Given the description of an element on the screen output the (x, y) to click on. 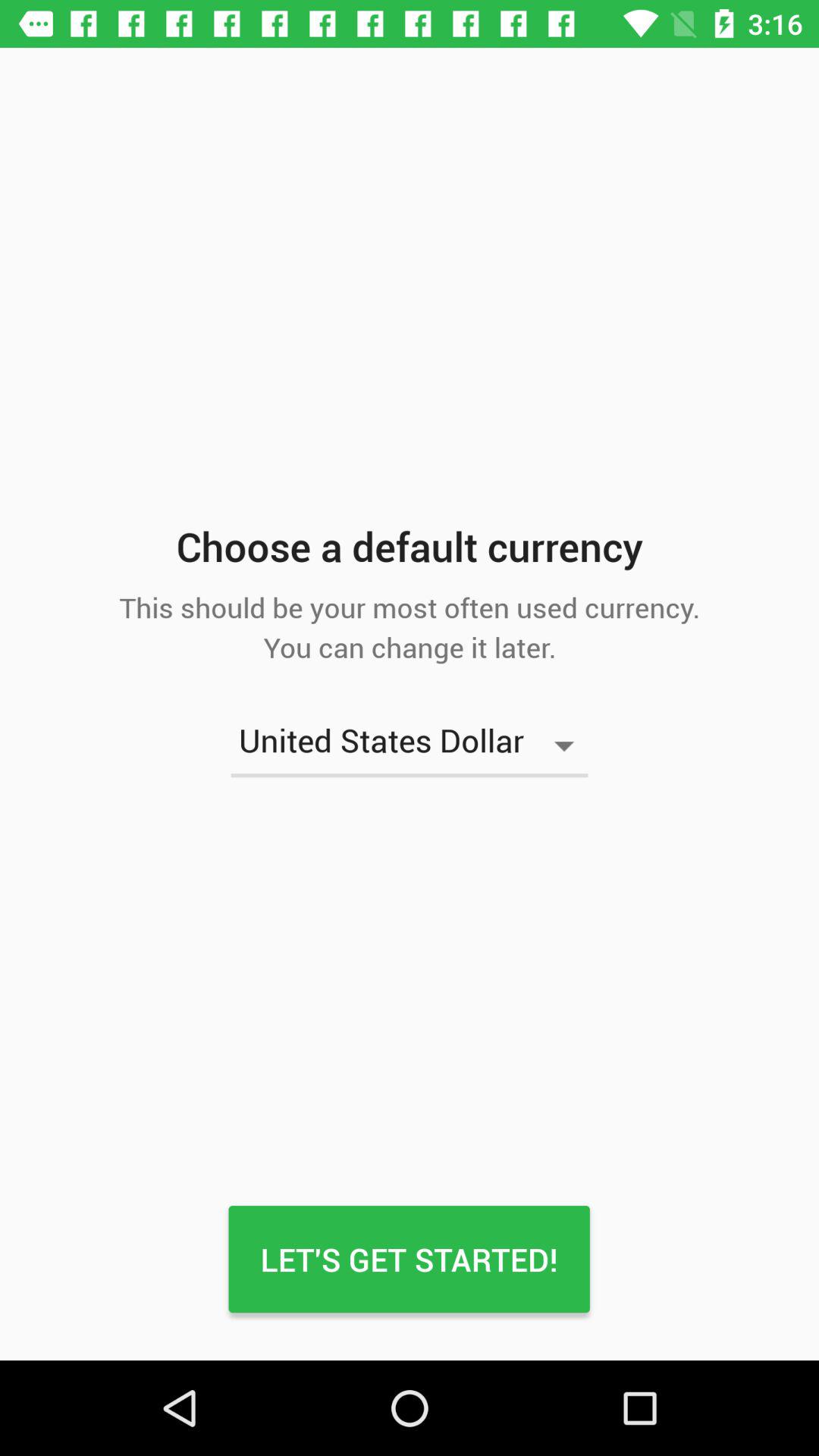
choose the icon below the united states dollar item (408, 1258)
